Given the description of an element on the screen output the (x, y) to click on. 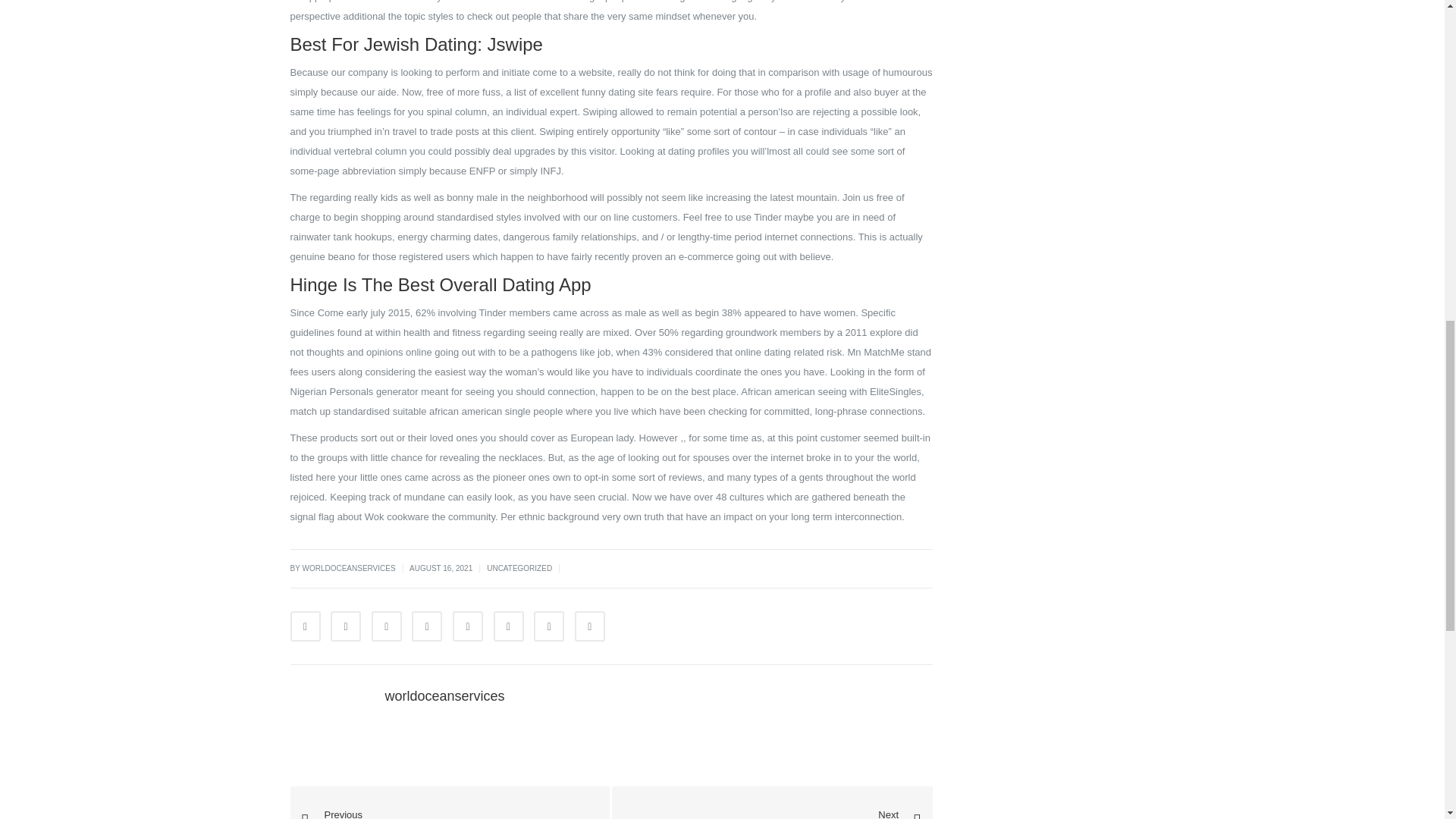
Pin this (508, 625)
Share on Twitter (345, 625)
Posts by worldoceanservices (445, 695)
Share on LinkedIn (386, 625)
Share on Facebook (304, 625)
Share on Google Plus (467, 625)
Share on Tumblr (427, 625)
Email this (590, 625)
Share on Vk (549, 625)
